Given the description of an element on the screen output the (x, y) to click on. 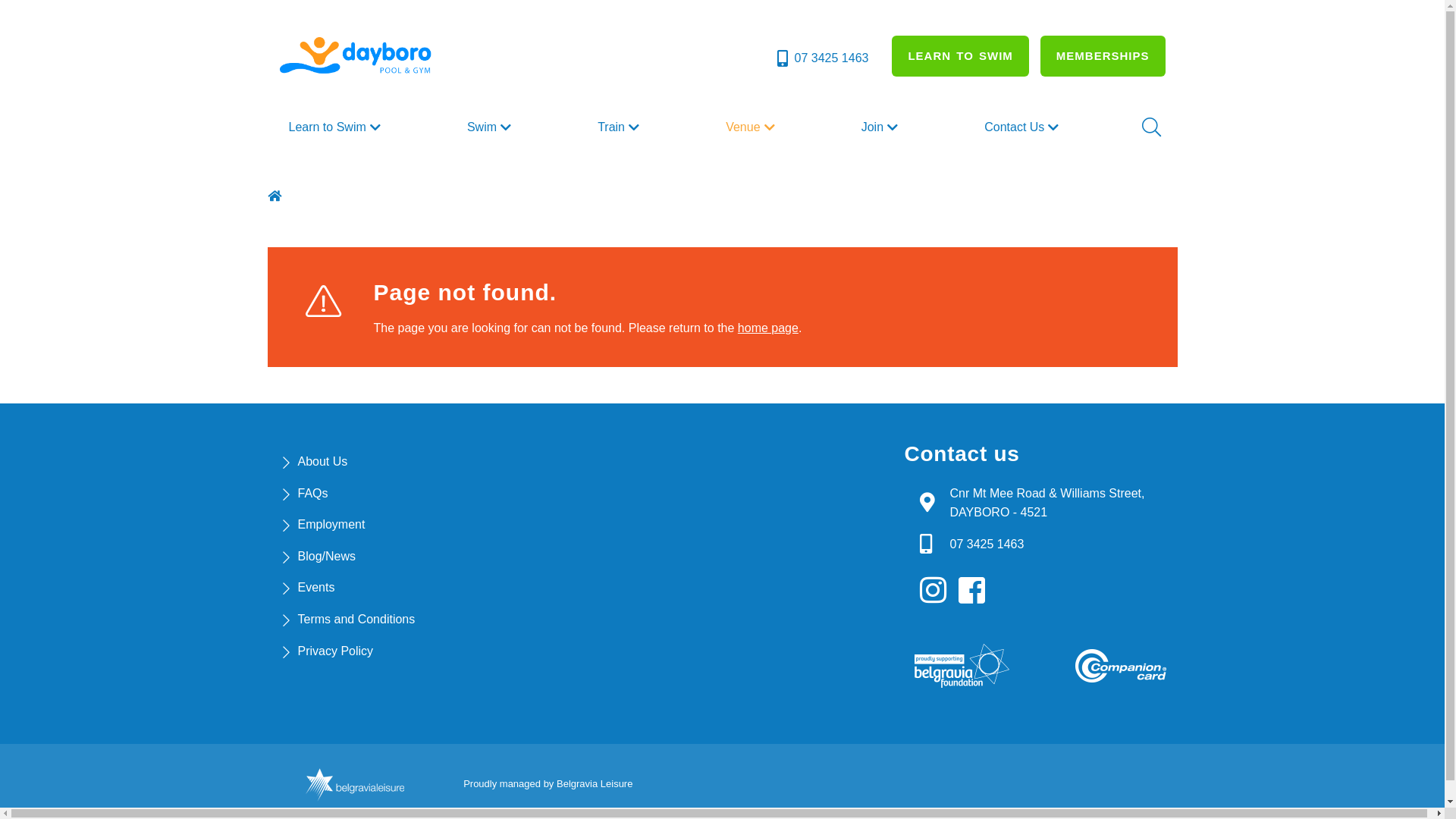
  Element type: text (975, 590)
MEMBERSHIPS Element type: text (1102, 55)
Contact Us Element type: text (1023, 127)
Events Element type: text (315, 586)
LEARN TO SWIM Element type: text (959, 55)
Privacy Policy Element type: text (335, 650)
  Element type: text (275, 195)
Swim Element type: text (490, 127)
Learn to Swim Element type: text (335, 127)
Employment Element type: text (330, 523)
Search Element type: text (1150, 127)
07 3425 1463 Element type: text (986, 543)
About Us Element type: text (322, 461)
07 3425 1463 Element type: text (821, 58)
FAQs Element type: text (312, 492)
Blog/News Element type: text (325, 555)
Train Element type: text (620, 127)
Venue Element type: text (751, 127)
Terms and Conditions Element type: text (355, 618)
home page Element type: text (767, 327)
  Element type: text (936, 590)
Join Element type: text (881, 127)
Proudly managed by Belgravia Leisure Element type: text (547, 783)
